Given the description of an element on the screen output the (x, y) to click on. 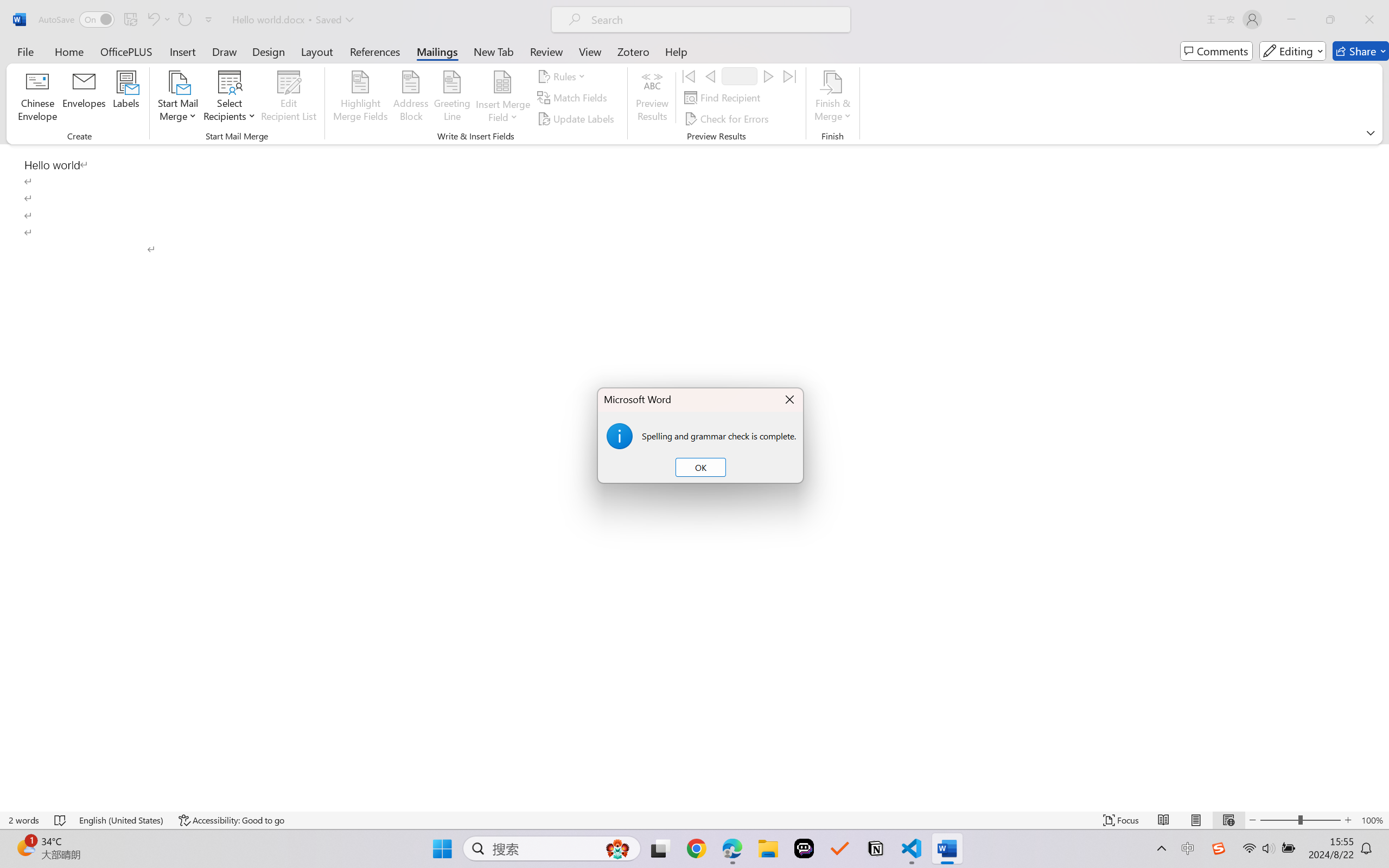
Mailings (437, 51)
Poe (804, 848)
Insert Merge Field (502, 81)
Notion (875, 848)
Restore Down (1330, 19)
Record (739, 76)
Update Labels (576, 118)
Check for Errors... (728, 118)
Class: Image (1218, 847)
